Given the description of an element on the screen output the (x, y) to click on. 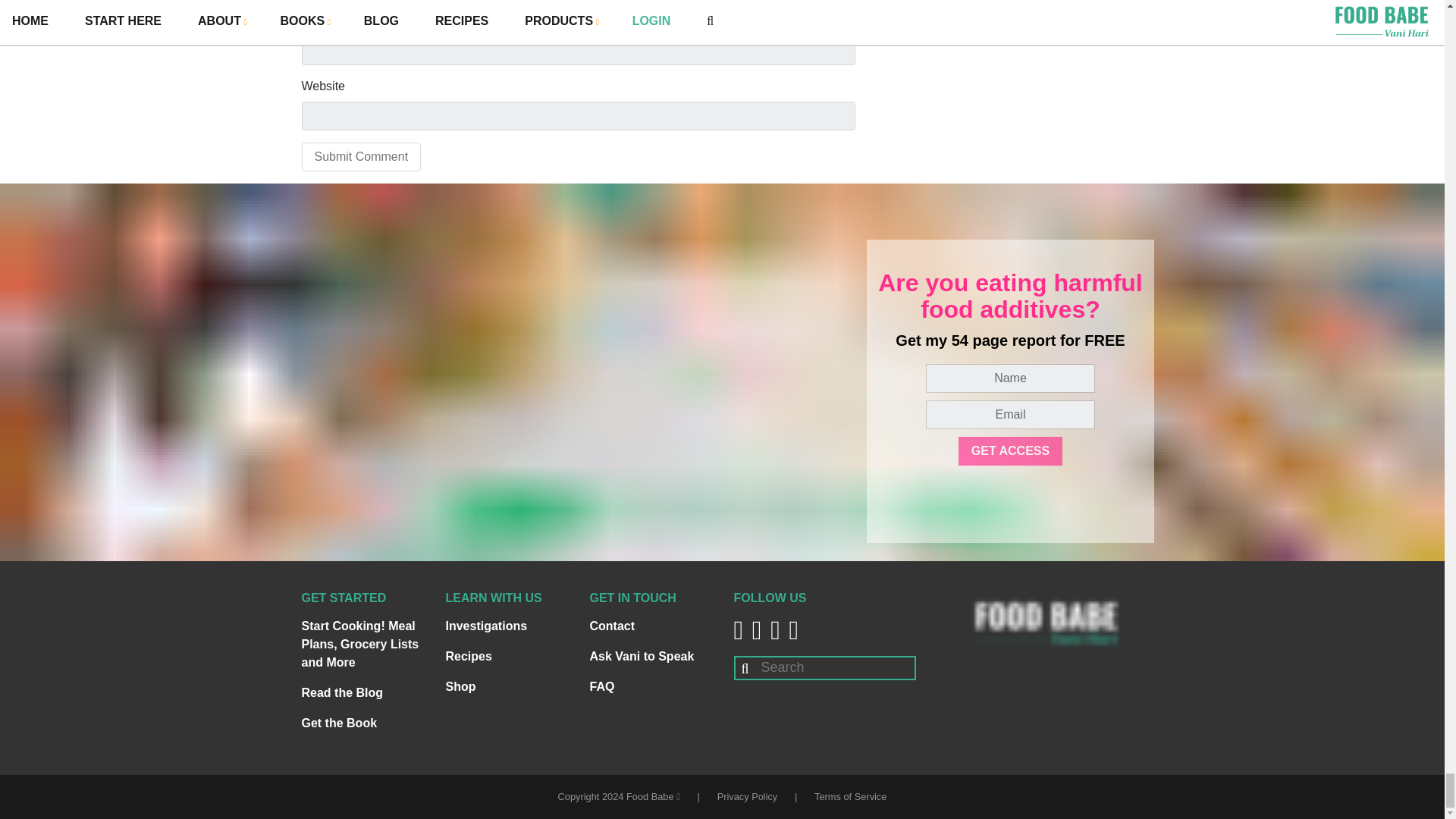
Submit Comment (361, 156)
